Given the description of an element on the screen output the (x, y) to click on. 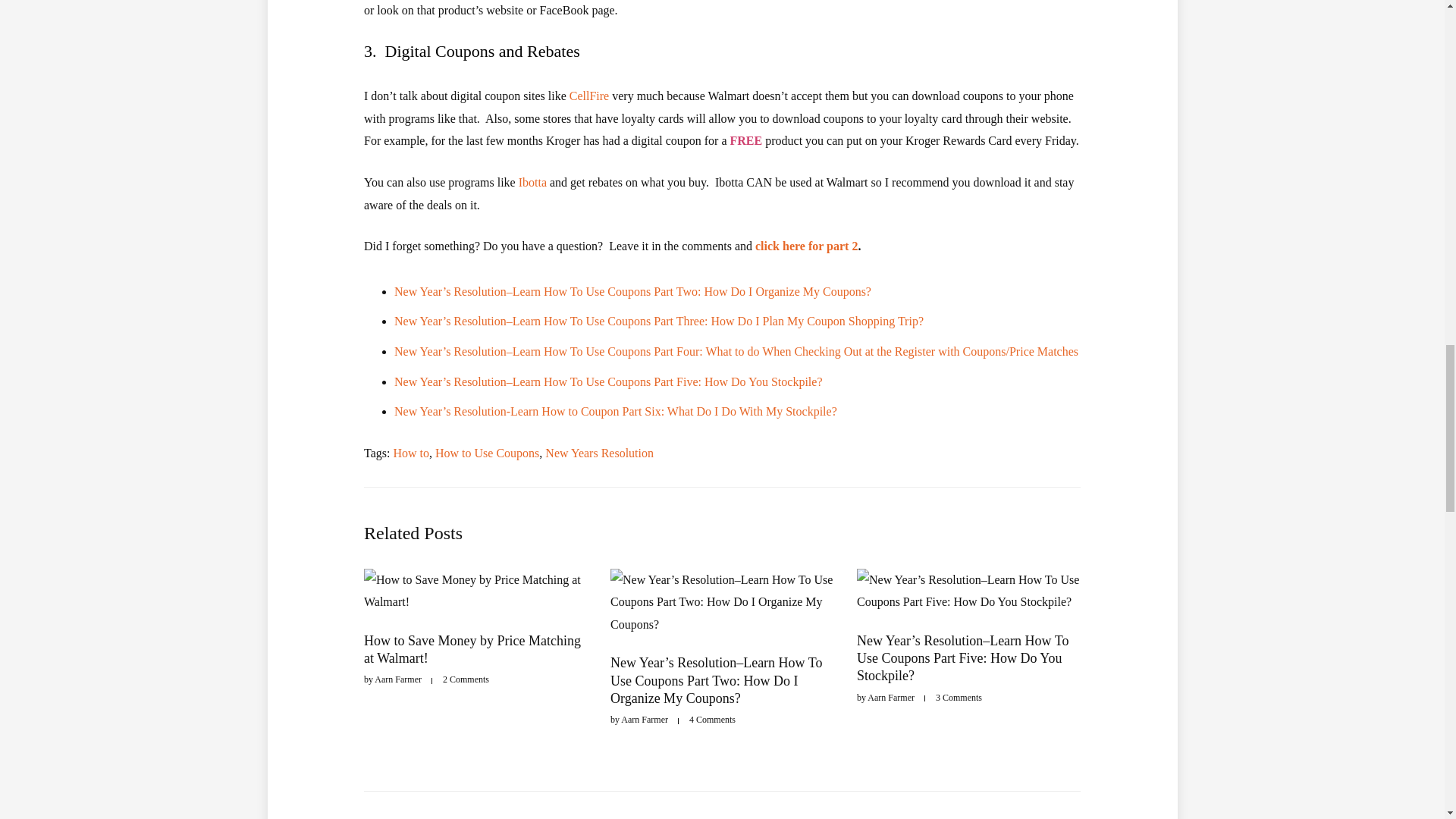
Ibotta (532, 182)
How to Use Coupons (486, 452)
How to Save Money by Price Matching at Walmart! (472, 649)
How to (411, 452)
New Years Resolution (598, 452)
click here for part 2 (804, 245)
CellFire (588, 95)
